Given the description of an element on the screen output the (x, y) to click on. 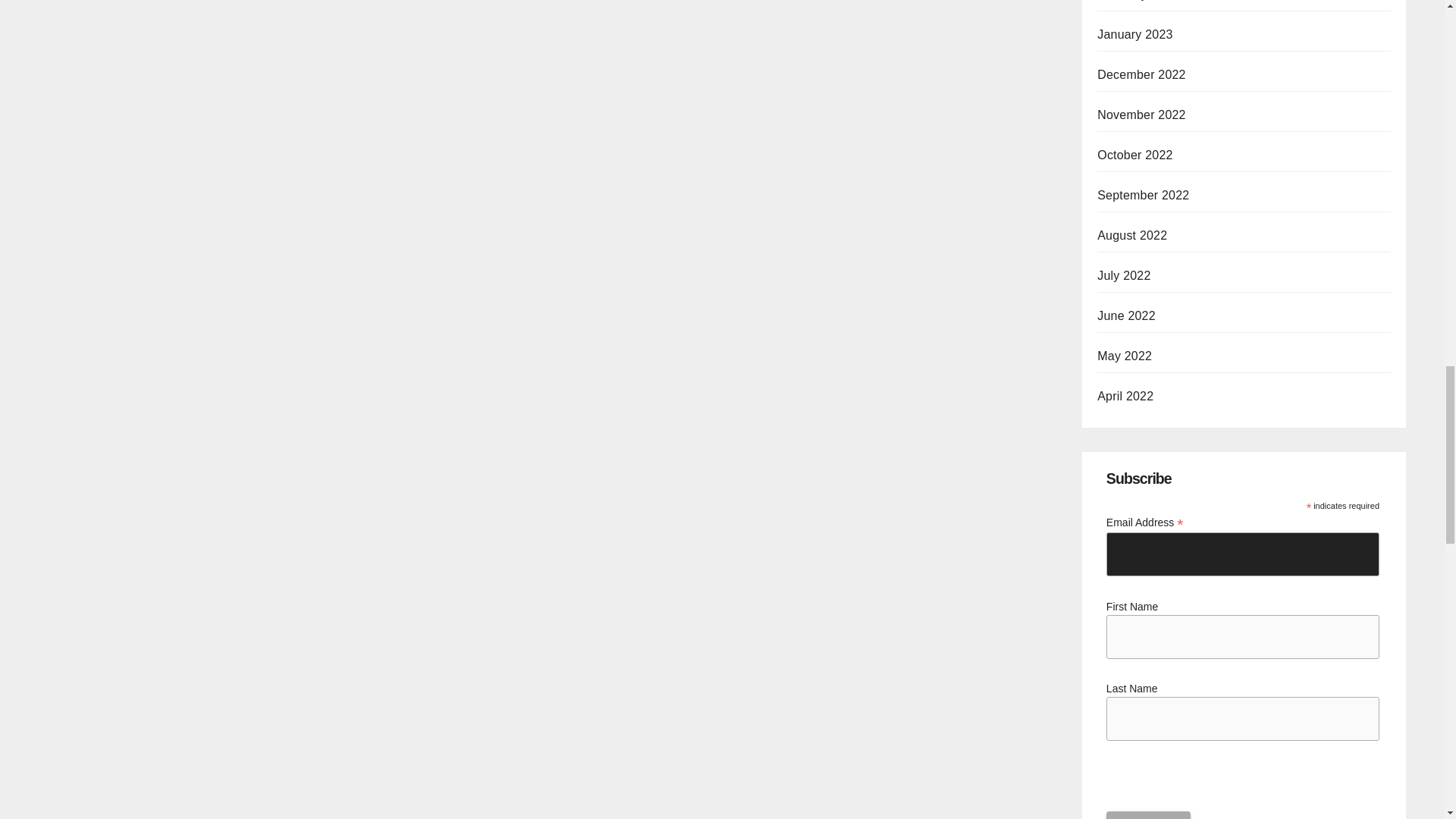
Subscribe (1148, 815)
